Given the description of an element on the screen output the (x, y) to click on. 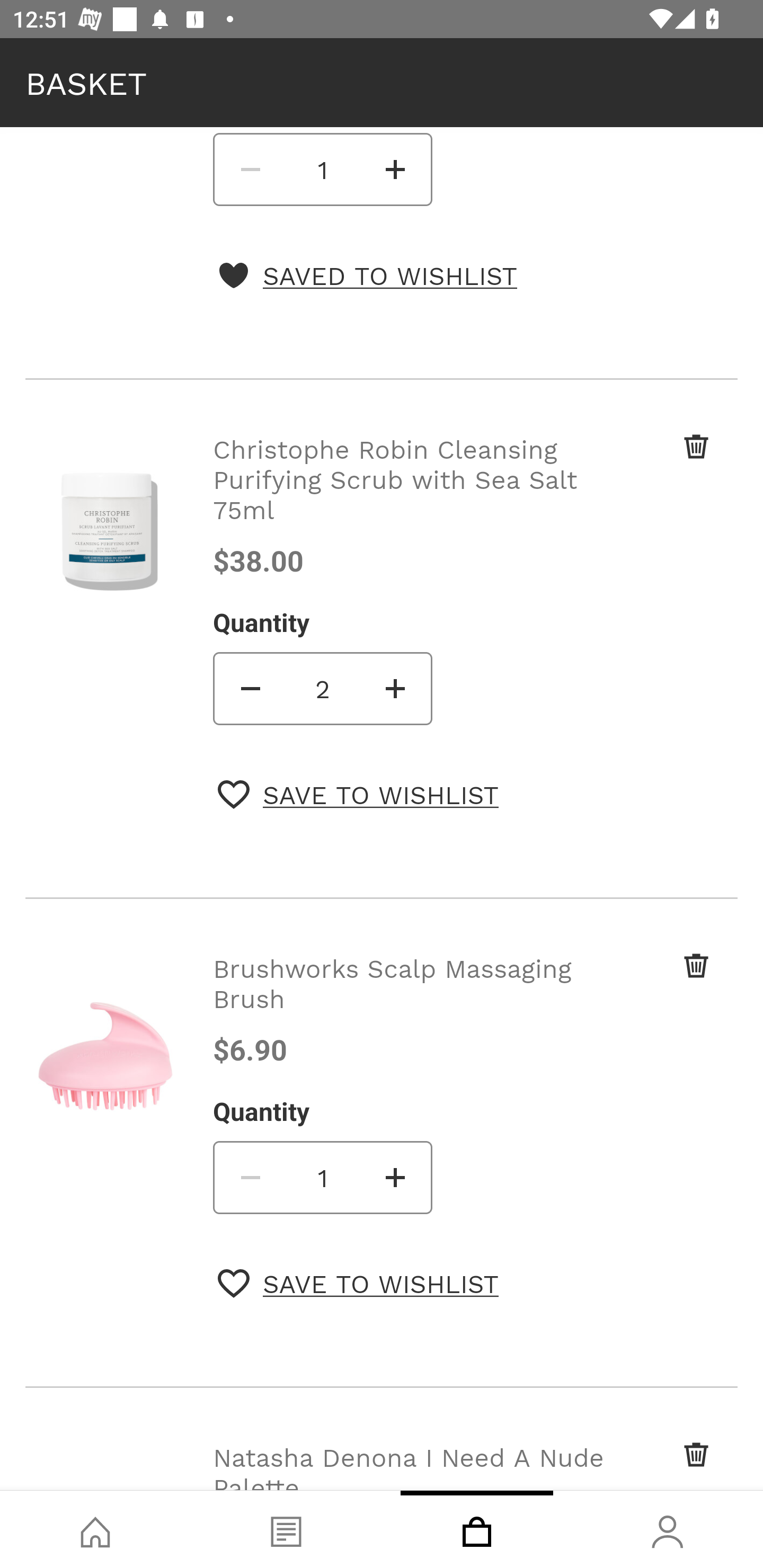
Decrease quantity (249, 169)
Increase quantity (395, 169)
Saved to Wishlist SAVED TO WISHLIST (366, 275)
Remove this item (661, 467)
Decrease quantity (249, 688)
Increase quantity (395, 688)
Save to Wishlist SAVE TO WISHLIST (357, 794)
Brushworks Scalp Massaging Brush $6.90 (412, 1008)
Remove this item (661, 983)
Decrease quantity (249, 1177)
Increase quantity (395, 1177)
Save to Wishlist SAVE TO WISHLIST (357, 1283)
Remove this item (661, 1464)
Shop, tab, 1 of 4 (95, 1529)
Blog, tab, 2 of 4 (285, 1529)
Basket, tab, 3 of 4 (476, 1529)
Account, tab, 4 of 4 (667, 1529)
